Given the description of an element on the screen output the (x, y) to click on. 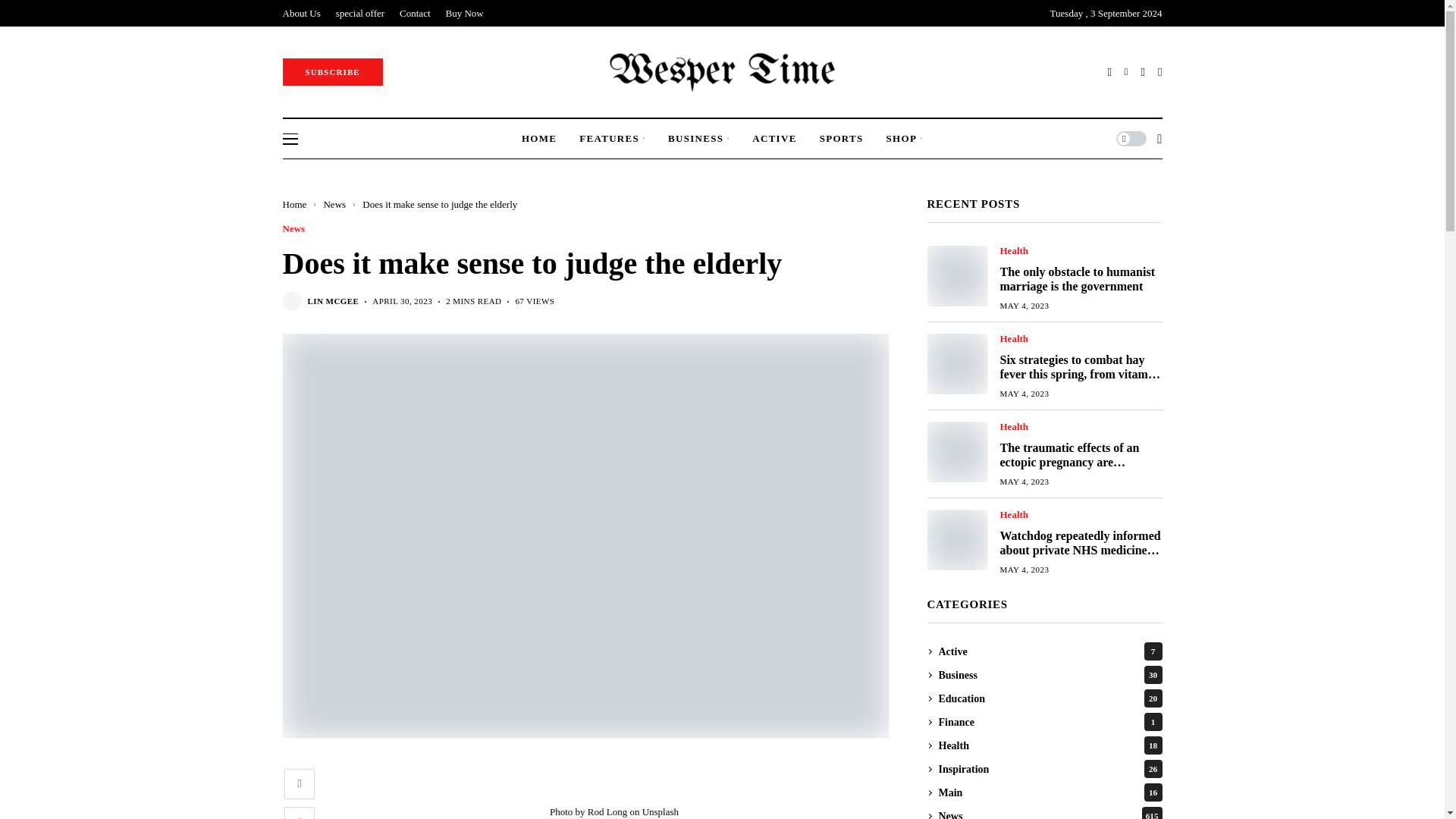
About Us (301, 13)
FEATURES (612, 138)
special offer (360, 13)
Buy Now (464, 13)
SUBSCRIBE (331, 71)
Posts by Lin McGee (333, 301)
Contact (413, 13)
